Given the description of an element on the screen output the (x, y) to click on. 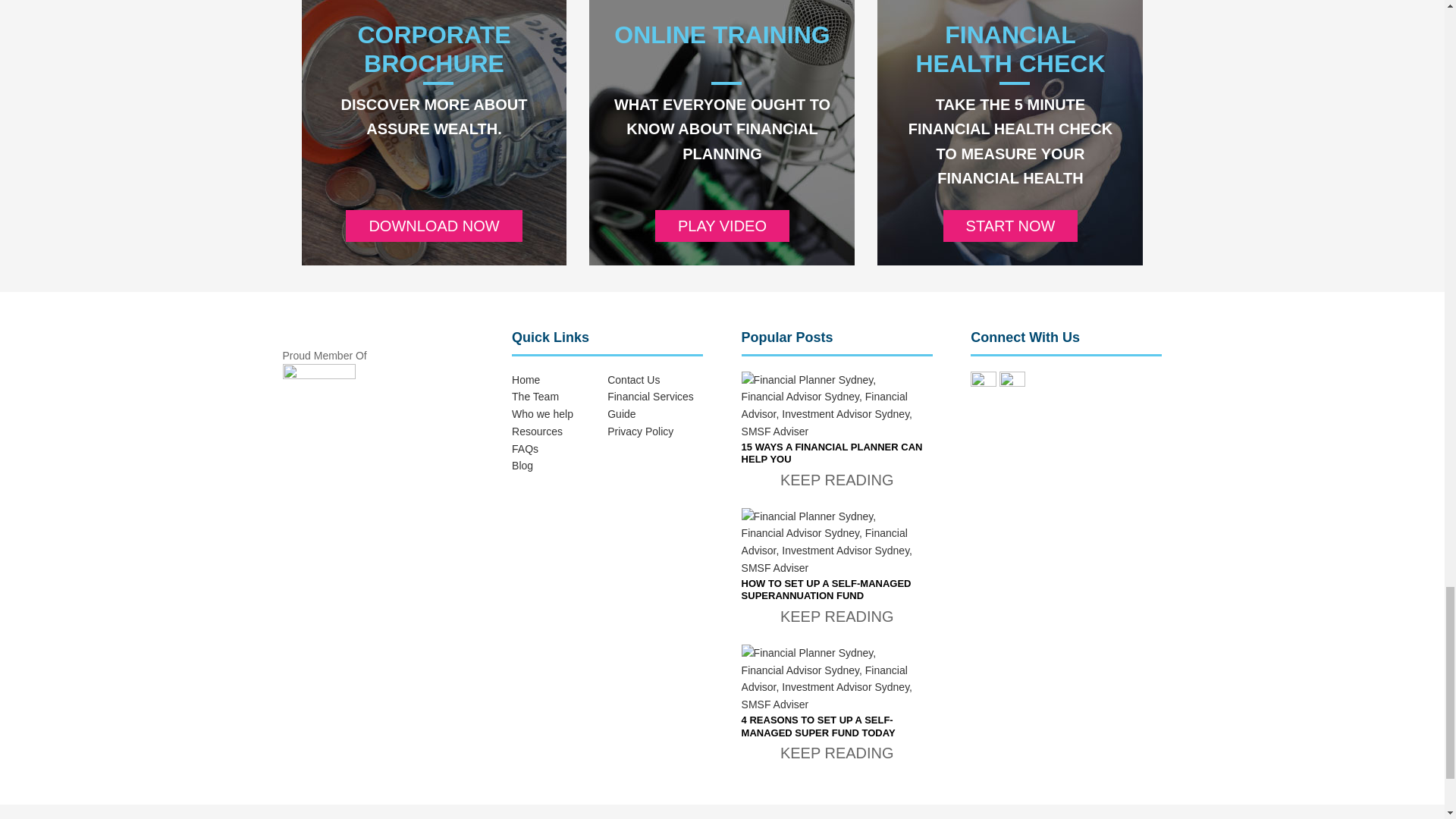
Home (526, 379)
The Team (535, 396)
Who we help (542, 413)
FAQs (525, 449)
PLAY VIDEO (722, 225)
START NOW (1010, 225)
Resources (537, 431)
DOWNLOAD NOW (433, 225)
